Given the description of an element on the screen output the (x, y) to click on. 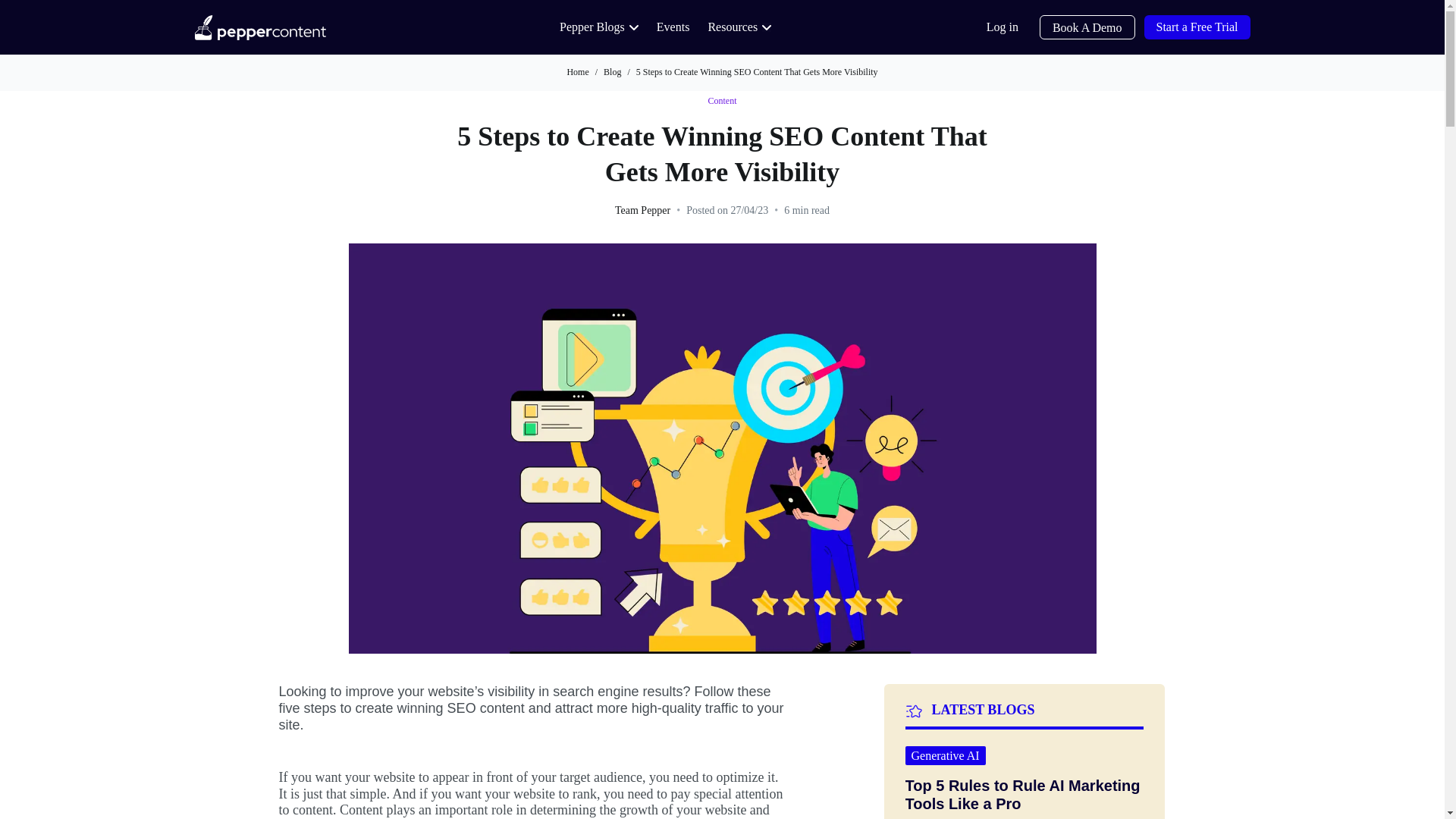
Pepper Blogs (599, 27)
Book A Demo (1087, 27)
Content (721, 101)
Homepage (259, 27)
Home (577, 71)
Blog (612, 71)
Start a Free Trial (1195, 27)
Log in (1002, 27)
Resources (739, 27)
